Given the description of an element on the screen output the (x, y) to click on. 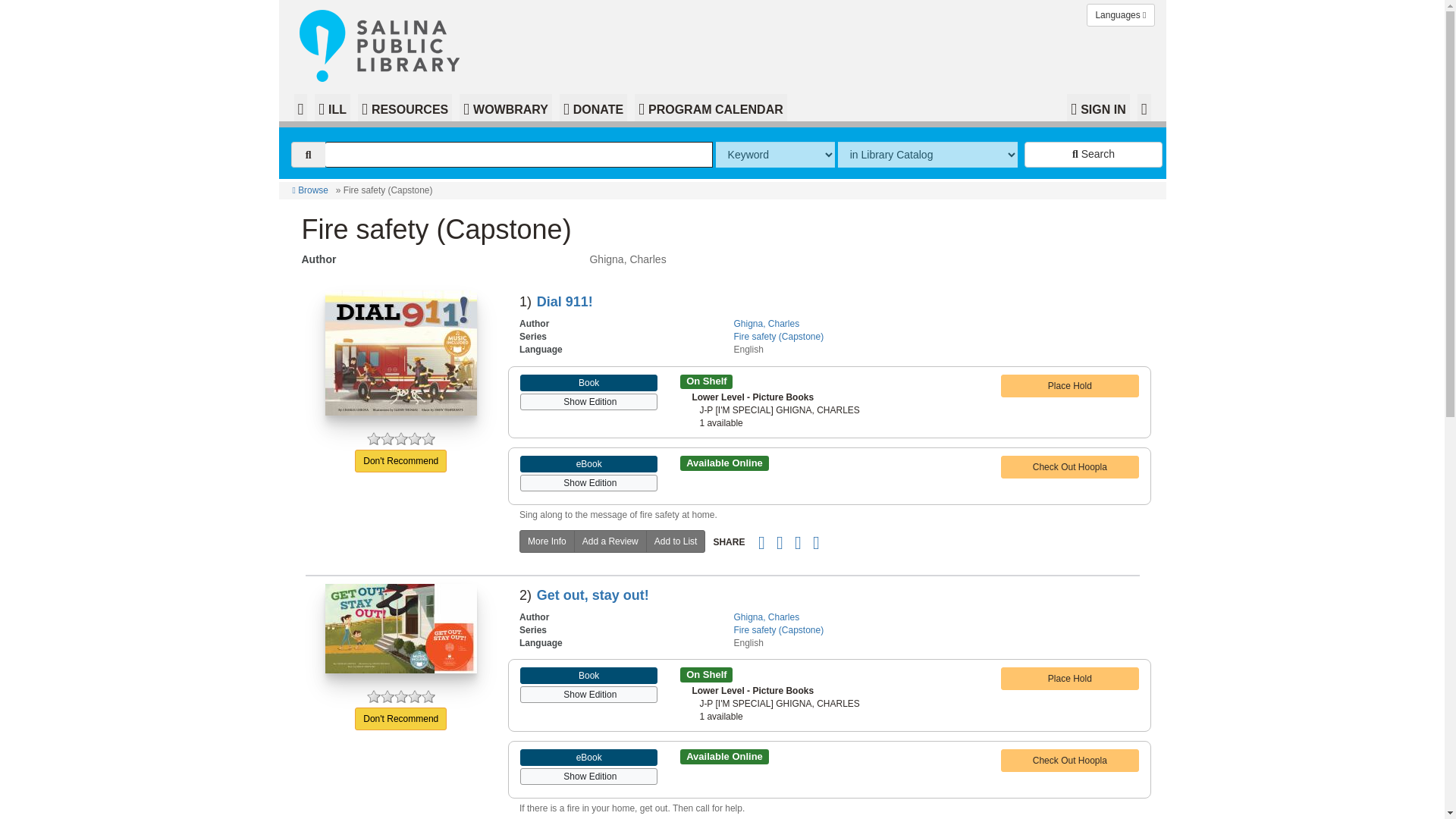
Check Out Hoopla (1069, 466)
eBook (588, 463)
DONATE (593, 107)
Dial 911! (564, 301)
The method of searching. (775, 154)
 Show Edition (588, 399)
 Show Edition (588, 481)
Ghigna, Charles (766, 323)
Book (588, 382)
WOWBRARY (505, 107)
